Given the description of an element on the screen output the (x, y) to click on. 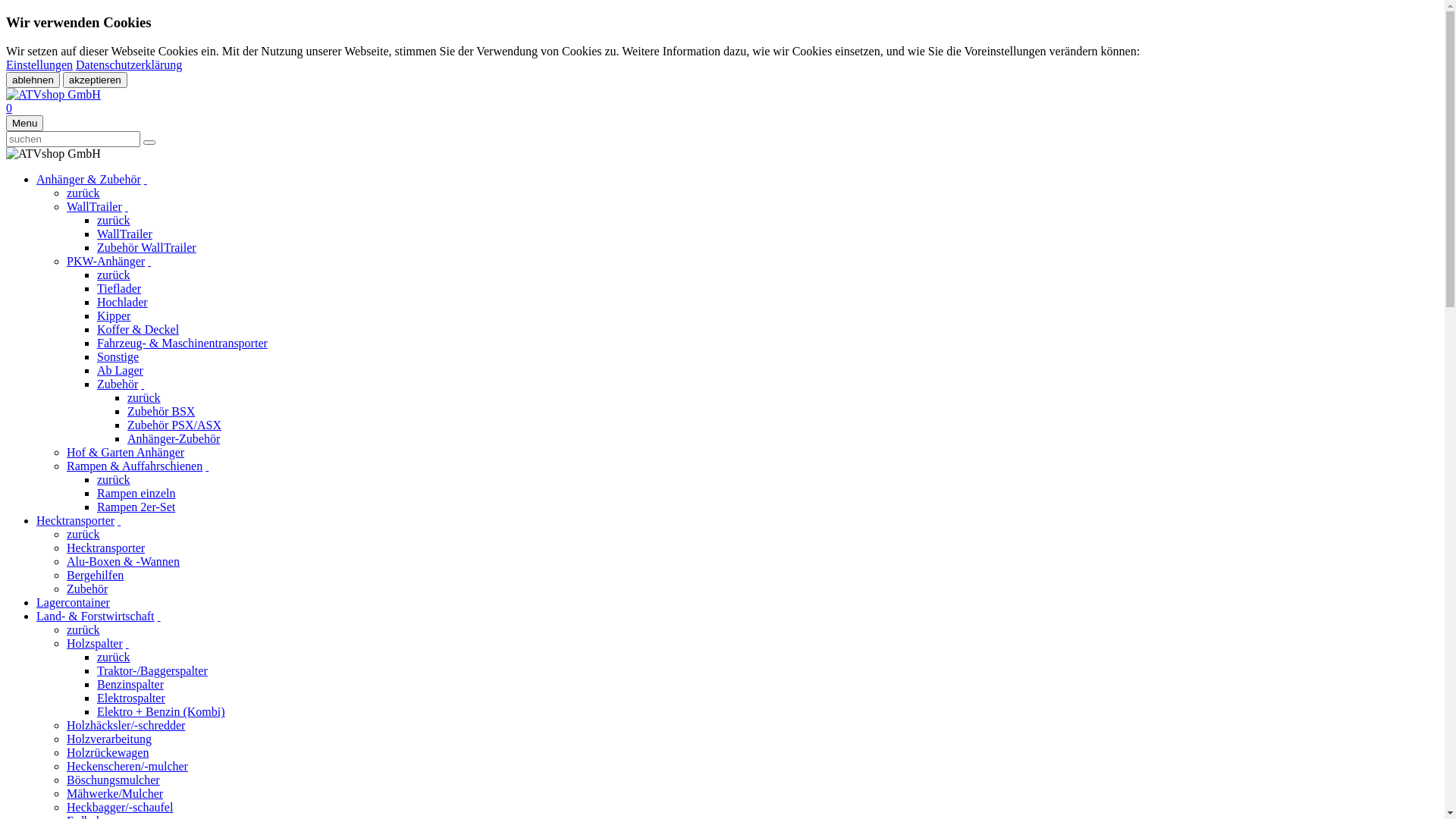
  Element type: text (142, 383)
  Element type: text (118, 520)
  Element type: text (126, 206)
Heckbagger/-schaufel Element type: text (119, 806)
Einstellungen Element type: text (39, 64)
Bergehilfen Element type: text (94, 574)
Rampen einzeln Element type: text (136, 492)
Lagercontainer Element type: text (72, 602)
Benzinspalter Element type: text (130, 683)
ablehnen Element type: text (32, 79)
Holzspalter Element type: text (94, 643)
Holzverarbeitung Element type: text (108, 738)
Kipper Element type: text (113, 315)
Land- & Forstwirtschaft Element type: text (95, 615)
Fahrzeug- & Maschinentransporter Element type: text (182, 342)
  Element type: text (206, 465)
Sonstige Element type: text (117, 356)
Rampen 2er-Set Element type: text (136, 506)
Heckenscheren/-mulcher Element type: text (127, 765)
Rampen & Auffahrschienen Element type: text (134, 465)
  Element type: text (158, 615)
Elektro + Benzin (Kombi) Element type: text (161, 711)
WallTrailer Element type: text (94, 206)
Traktor-/Baggerspalter Element type: text (152, 670)
Ab Lager Element type: text (120, 370)
Hecktransporter Element type: text (75, 520)
akzeptieren Element type: text (94, 79)
  Element type: text (145, 178)
Menu Element type: text (24, 123)
0 Element type: text (9, 107)
  Element type: text (126, 643)
Hecktransporter Element type: text (105, 547)
Koffer & Deckel Element type: text (137, 329)
Alu-Boxen & -Wannen Element type: text (122, 561)
Hochlader Element type: text (122, 301)
Elektrospalter Element type: text (131, 697)
  Element type: text (148, 260)
Tieflader Element type: text (119, 288)
WallTrailer Element type: text (124, 233)
